Given the description of an element on the screen output the (x, y) to click on. 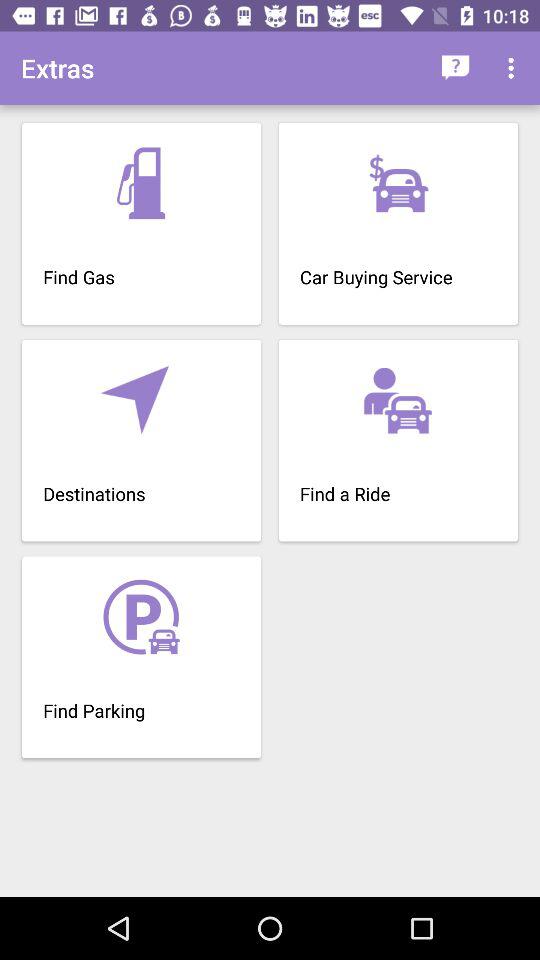
tap the icon above car buying service icon (513, 67)
